Given the description of an element on the screen output the (x, y) to click on. 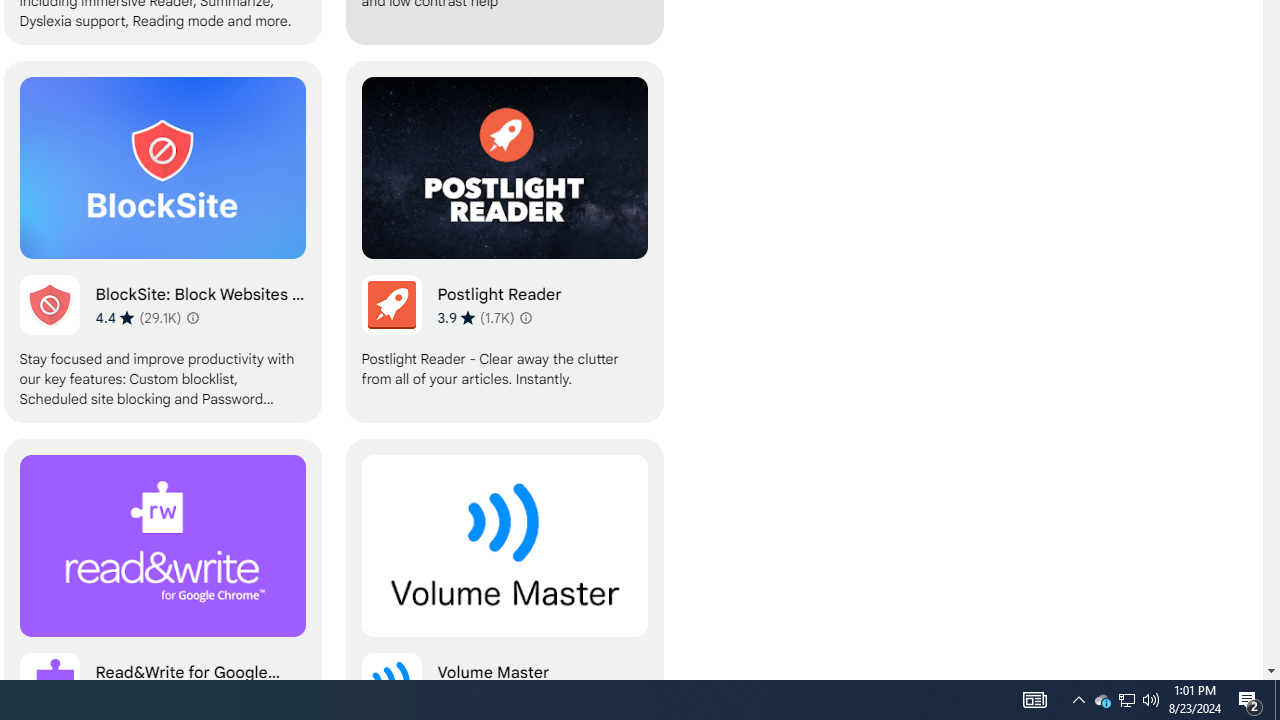
Average rating 4.4 out of 5 stars. 29.1K ratings. (137, 317)
BlockSite: Block Websites & Stay Focused (162, 242)
Average rating 3.9 out of 5 stars. 1.7K ratings. (475, 317)
Postlight Reader (504, 242)
Learn more about results and reviews "Postlight Reader" (525, 317)
